Given the description of an element on the screen output the (x, y) to click on. 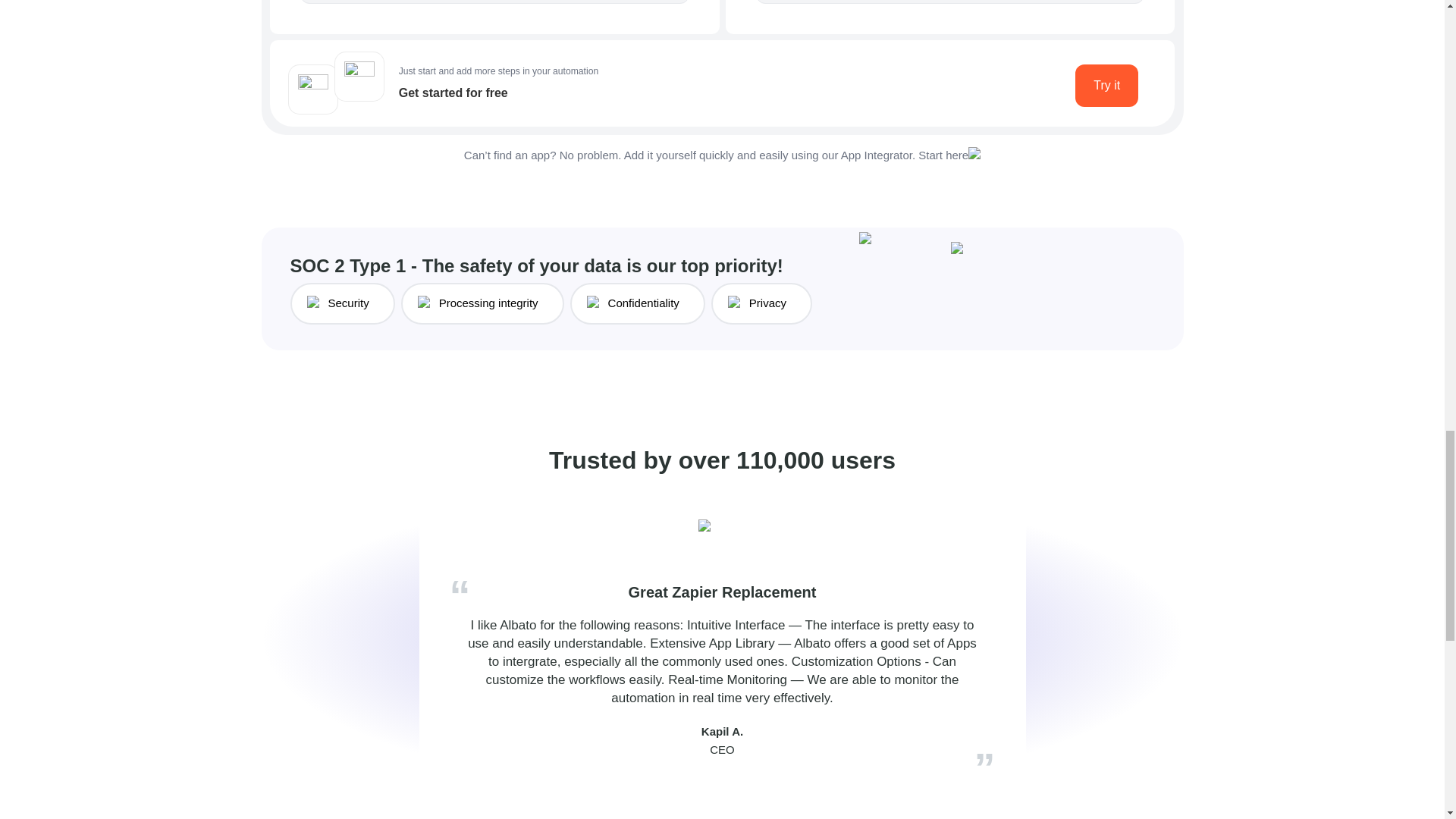
Start here (943, 154)
Try it (1106, 85)
Try it (1106, 85)
